Given the description of an element on the screen output the (x, y) to click on. 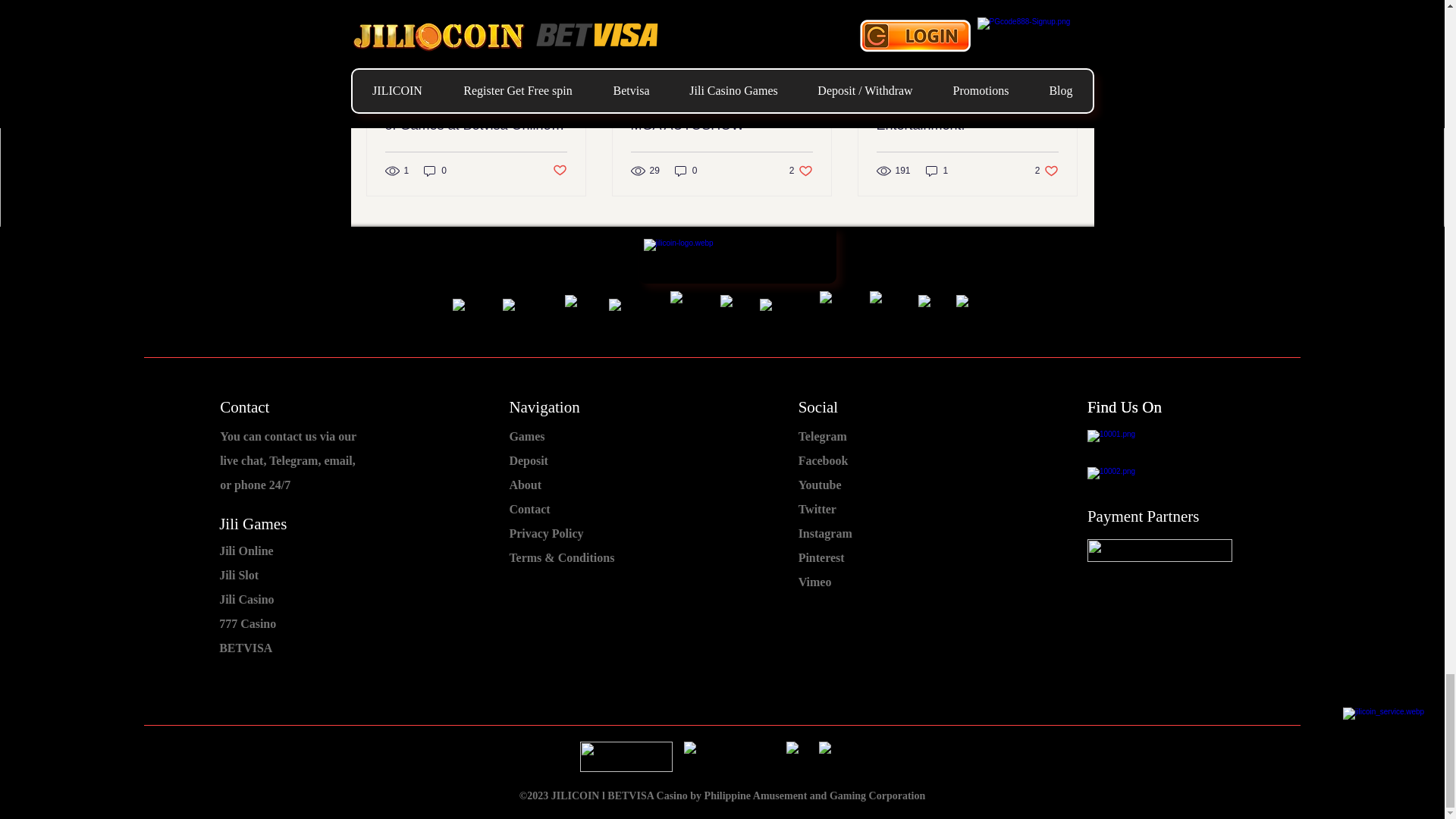
Jili Online (800, 170)
0 (1046, 170)
JILI: Free Credit for Endless Entertainment! (246, 550)
logo-license.b6e9140.webp (435, 170)
Jili Games (967, 117)
logo-license.b6e9140.webp (625, 757)
logo-license.b6e9140.webp (252, 523)
PAGLAHOK NG BETVISA SA MGA AUTOSHOW (730, 757)
logo-license.b6e9140.webp (800, 757)
Hindi minarkahan bilang na-like ang post (721, 117)
0 (840, 757)
1 (558, 170)
Jili Slot  (685, 170)
